Given the description of an element on the screen output the (x, y) to click on. 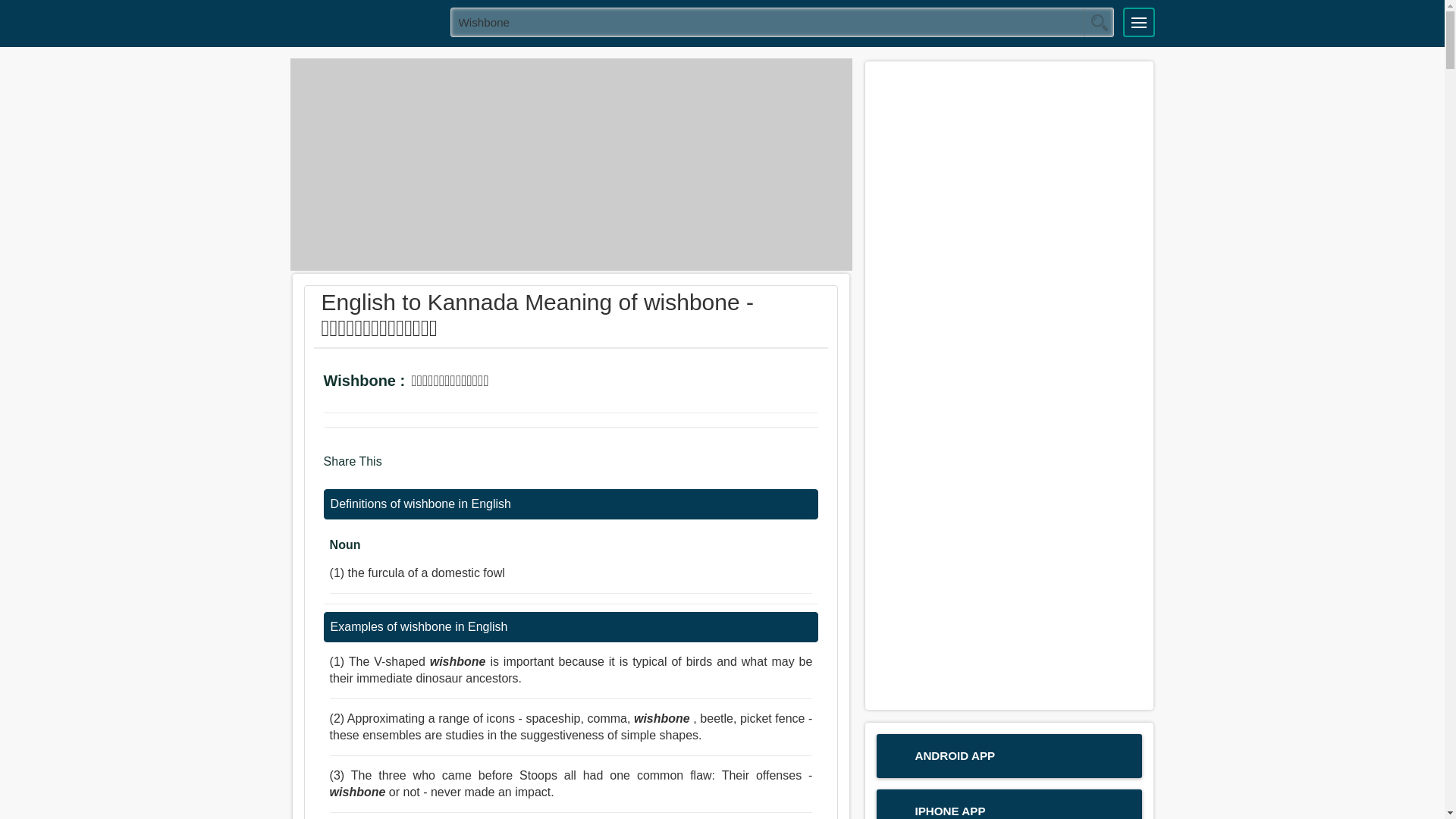
Advertisement (570, 164)
Twitter (428, 468)
Say The Word (513, 383)
KANNADA (365, 20)
More Share (485, 468)
wishbone (782, 21)
Linkedin (458, 468)
Add To Favorites (556, 383)
Search (1098, 22)
Facebook (398, 468)
